Given the description of an element on the screen output the (x, y) to click on. 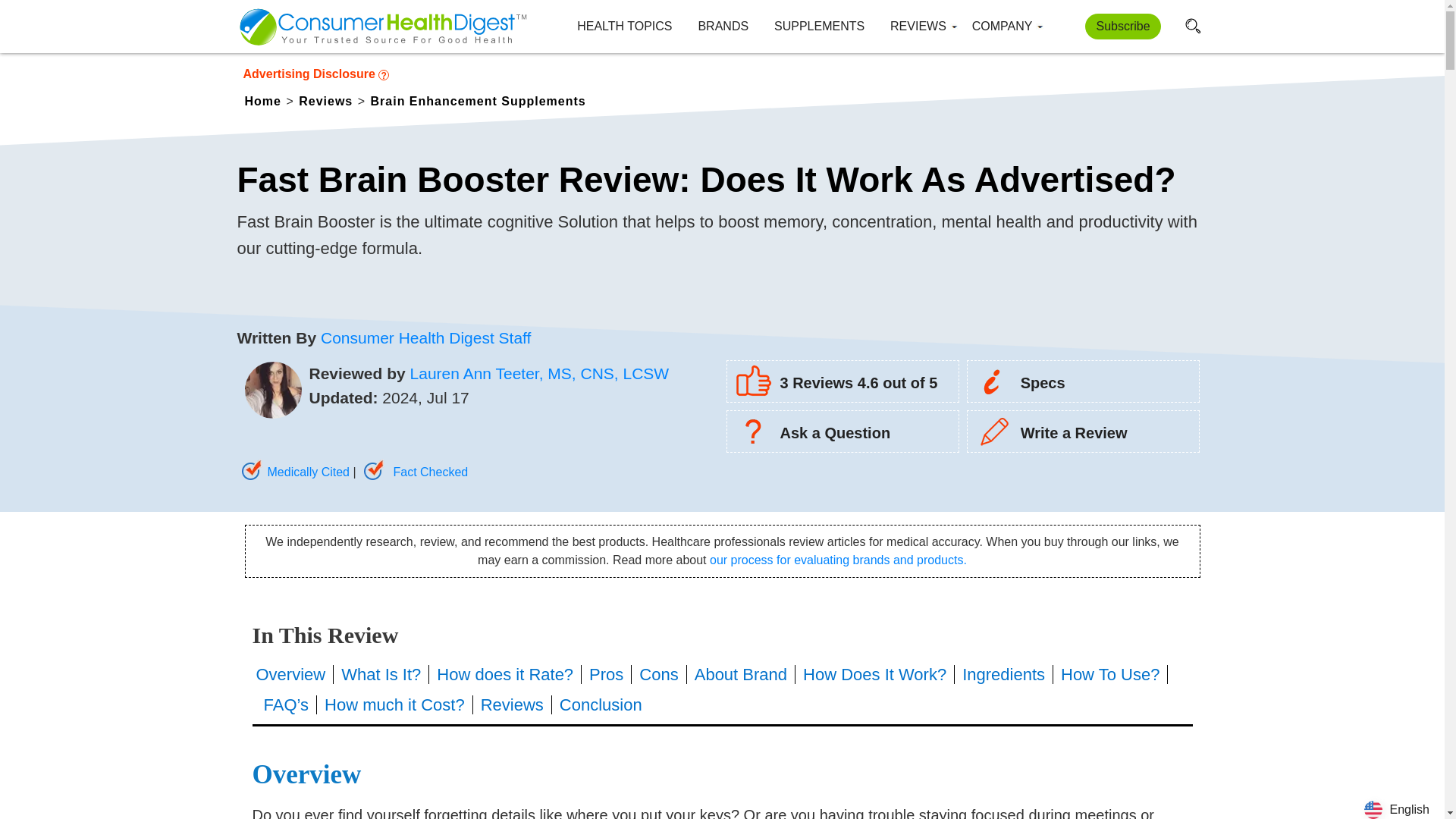
Consumer Health Digest Staff (425, 337)
our process for evaluating brands and products. (838, 559)
3 Reviews 4.6 out of 5 (831, 382)
SUPPLEMENTS (819, 26)
COMPANY (1002, 26)
HEALTH TOPICS (623, 26)
Consumer Health Digest Staff (425, 337)
Reviews (327, 99)
Medically Cited (292, 472)
REVIEWS (917, 26)
